Given the description of an element on the screen output the (x, y) to click on. 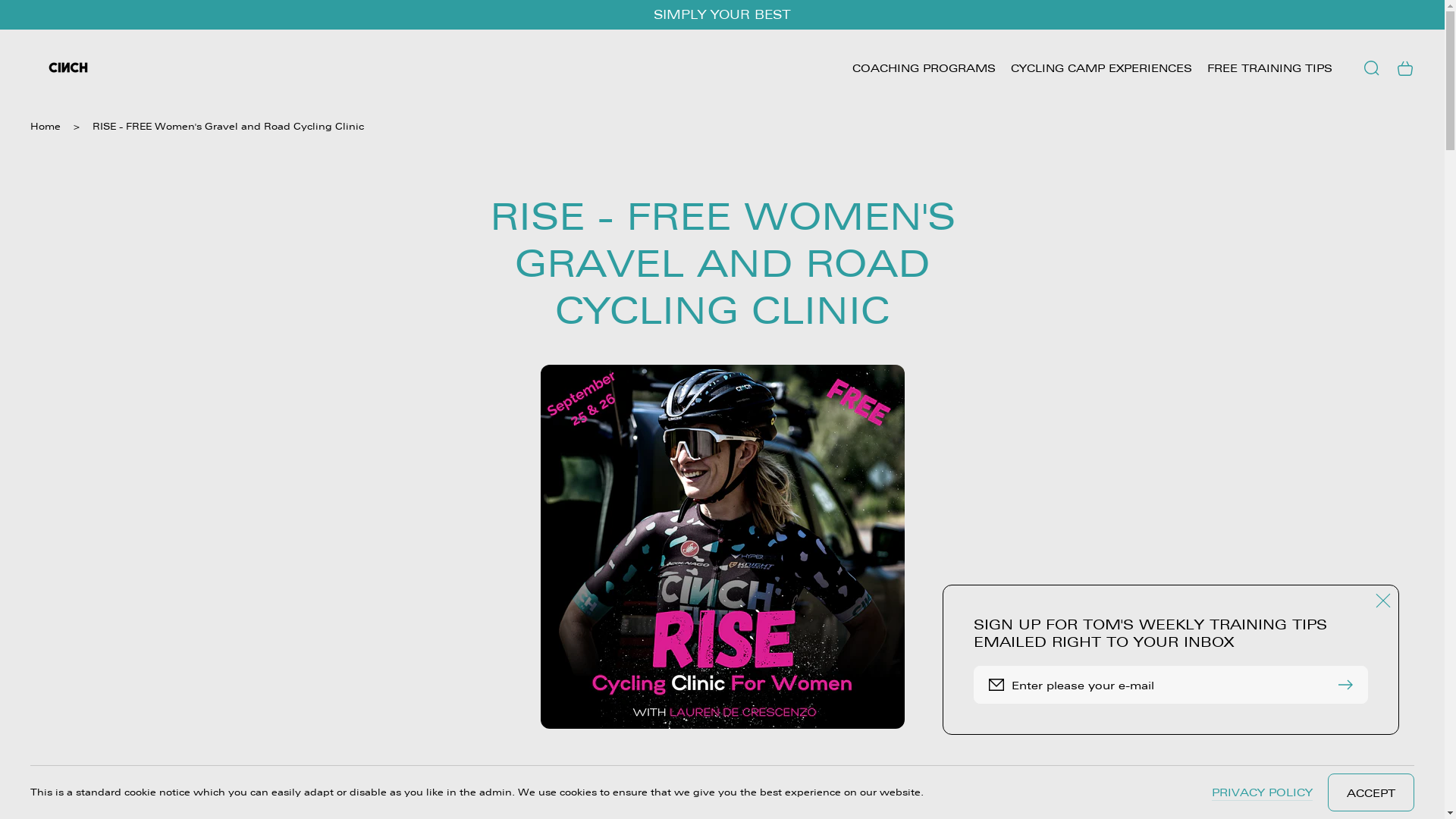
PRIVACY POLICY Element type: text (1261, 792)
COACHING PROGRAMS Element type: text (923, 67)
FREE TRAINING TIPS Element type: text (1269, 67)
CYCLING CAMP EXPERIENCES Element type: text (1101, 67)
Cart Element type: text (1404, 67)
Home Element type: text (45, 126)
ACCEPT Element type: text (1370, 792)
